Given the description of an element on the screen output the (x, y) to click on. 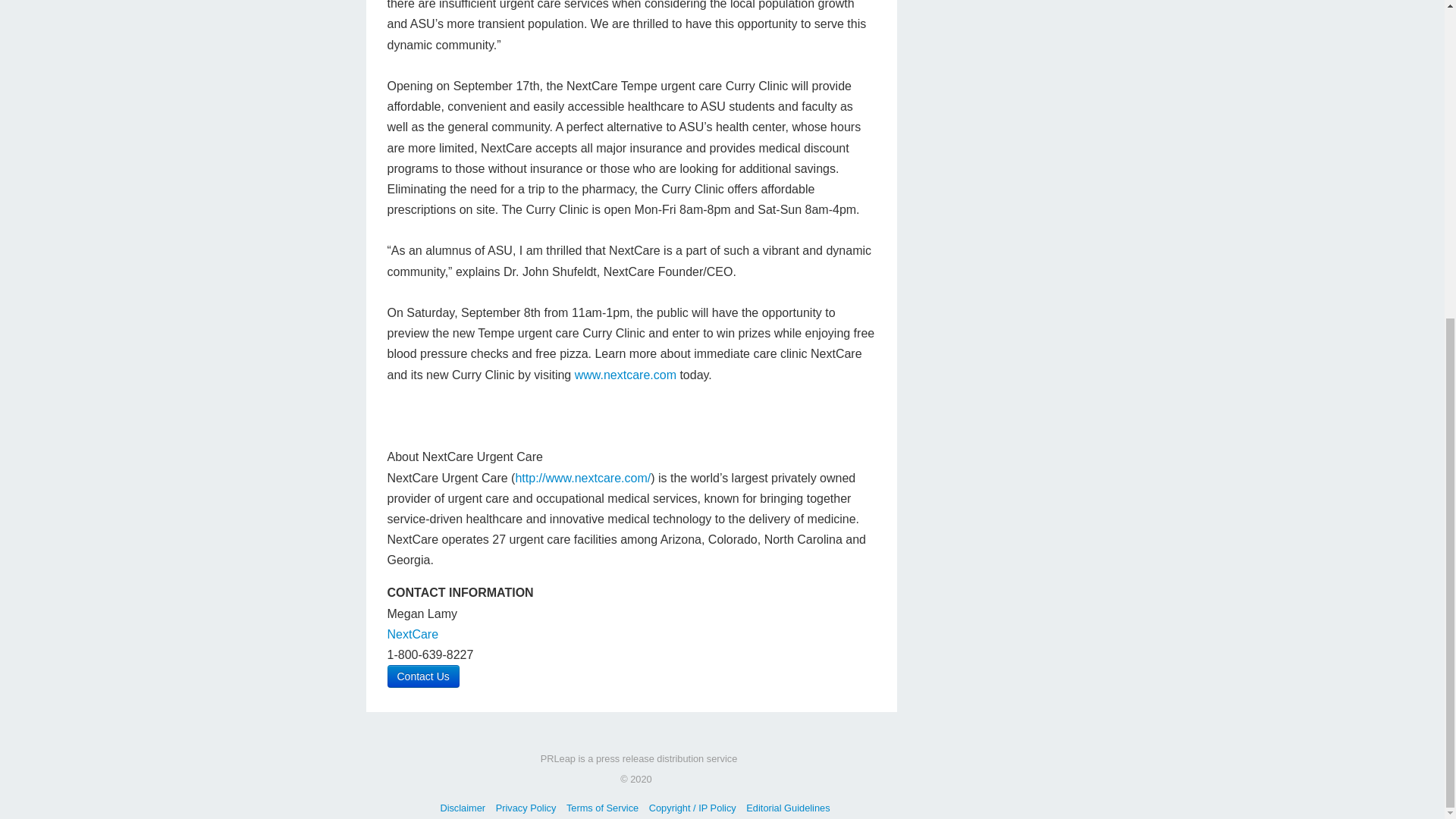
Disclaimer (461, 808)
Contact Us (422, 676)
Editorial Guidelines (787, 808)
Privacy Policy (526, 808)
Terms of Service (602, 808)
www.nextcare.com (626, 374)
NextCare (412, 634)
